Given the description of an element on the screen output the (x, y) to click on. 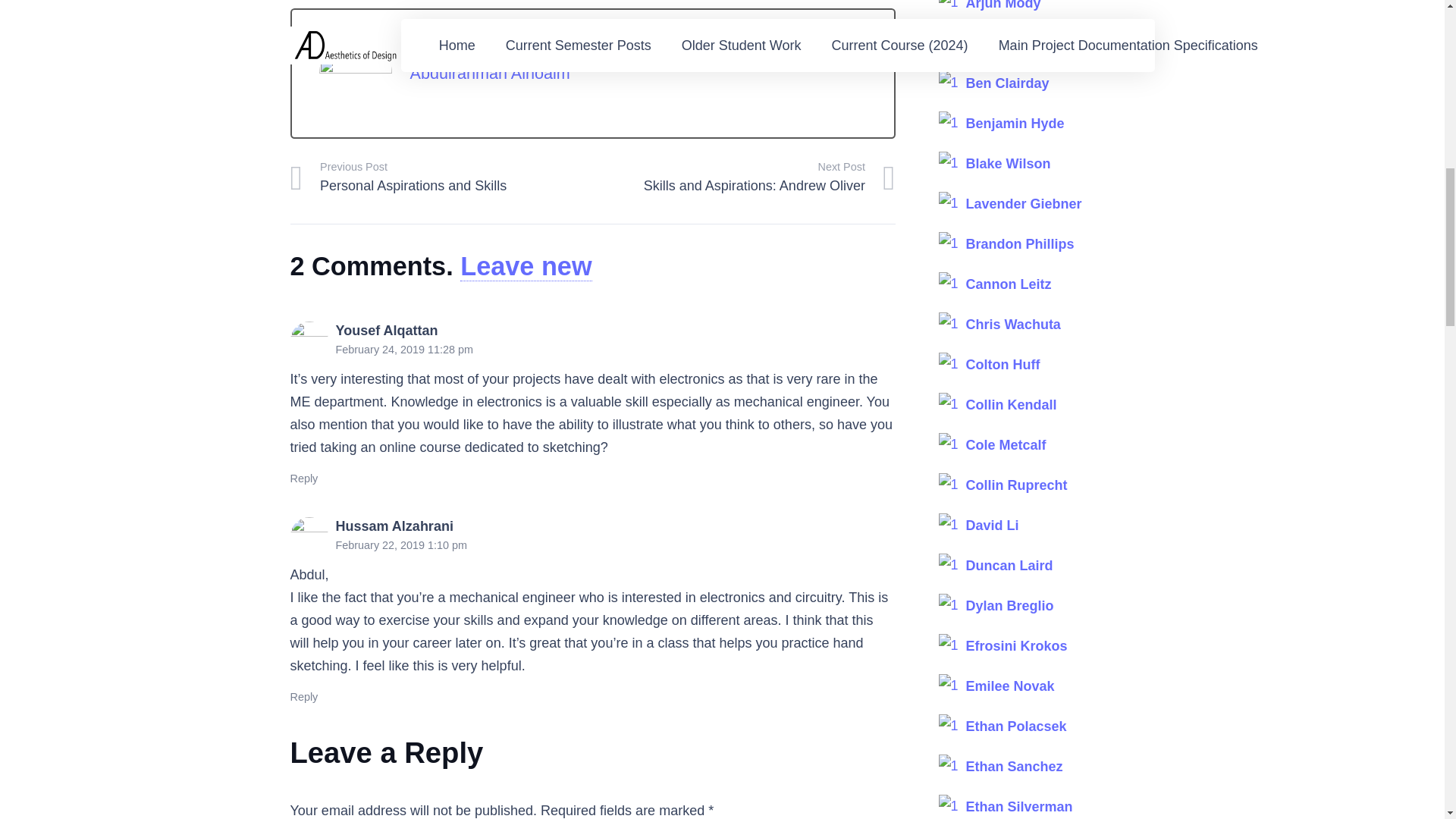
Personal Aspirations and Skills (440, 177)
Skills and Aspirations: Andrew Oliver (743, 177)
February 24, 2019 11:28 pm (403, 349)
February 22, 2019 1:10 pm (400, 544)
Back to top (1413, 26)
